Given the description of an element on the screen output the (x, y) to click on. 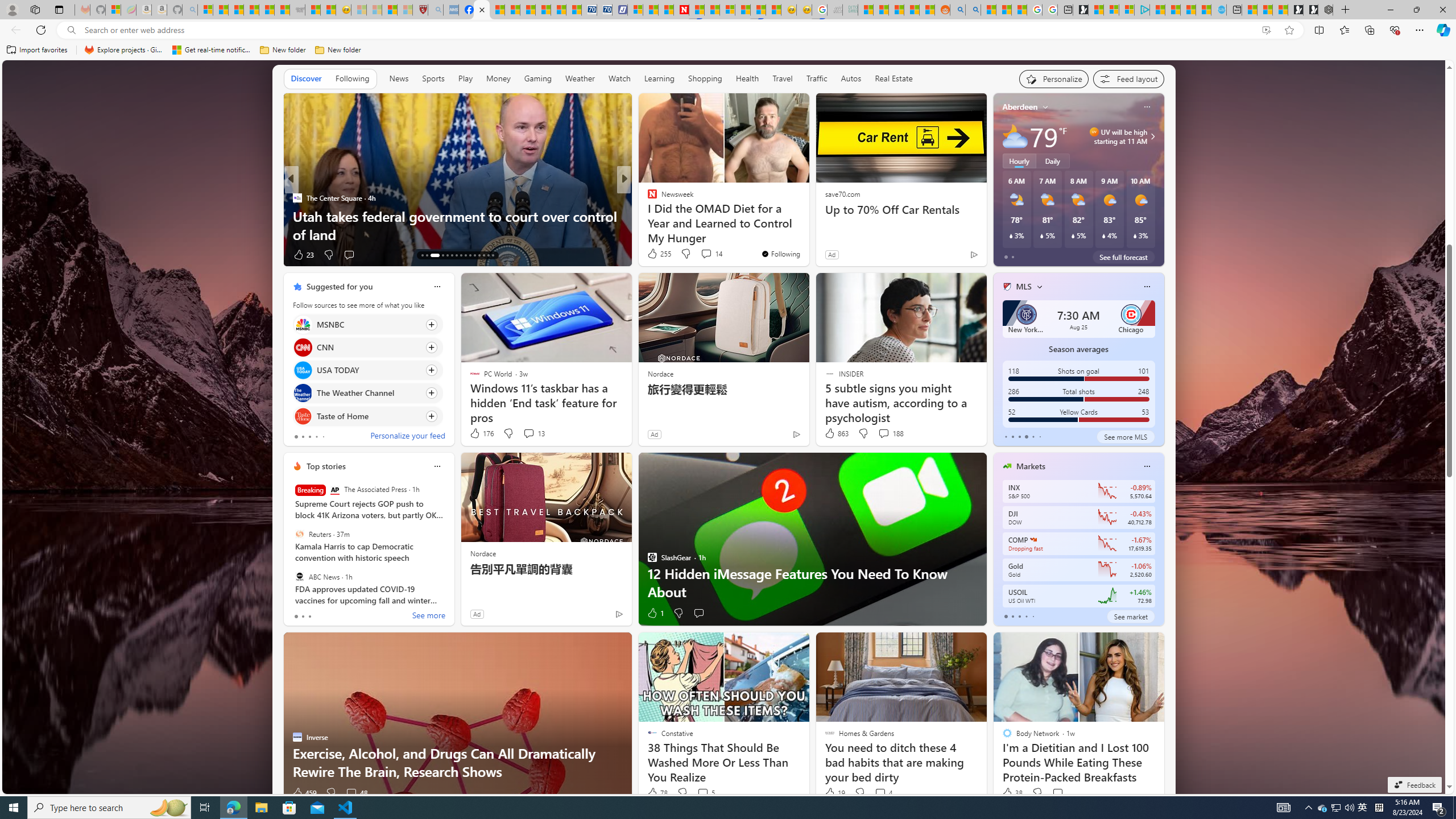
Daily (1052, 160)
View comments 5 Comment (705, 792)
Premium Mattresses & Bedding (807, 234)
639 Like (654, 254)
10 Strength Exercises for Beginners To Melt Love Handles (807, 225)
Body Network (647, 197)
AutomationID: backgroundImagePicture (723, 426)
AutomationID: tab-72 (456, 255)
255 Like (658, 253)
5 Like (651, 254)
